Given the description of an element on the screen output the (x, y) to click on. 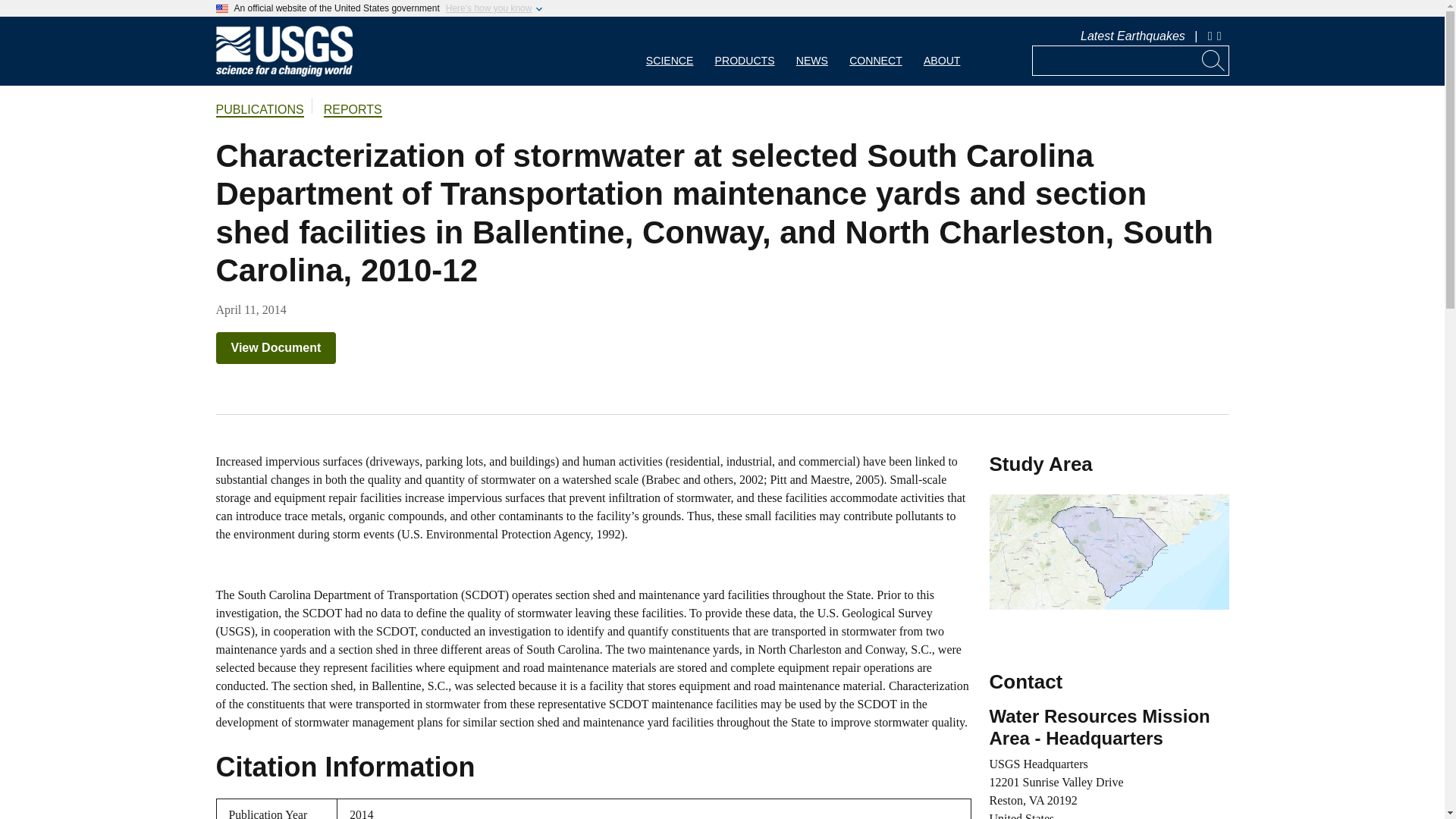
ABOUT (941, 50)
Home (283, 72)
REPORTS (352, 110)
CONNECT (875, 50)
NEWS (812, 50)
PUBLICATIONS (258, 110)
Here's how you know (488, 8)
Latest Earthquakes (1132, 35)
PRODUCTS (745, 50)
View Document (275, 347)
SCIENCE (669, 50)
Share Social Media (1220, 36)
